Given the description of an element on the screen output the (x, y) to click on. 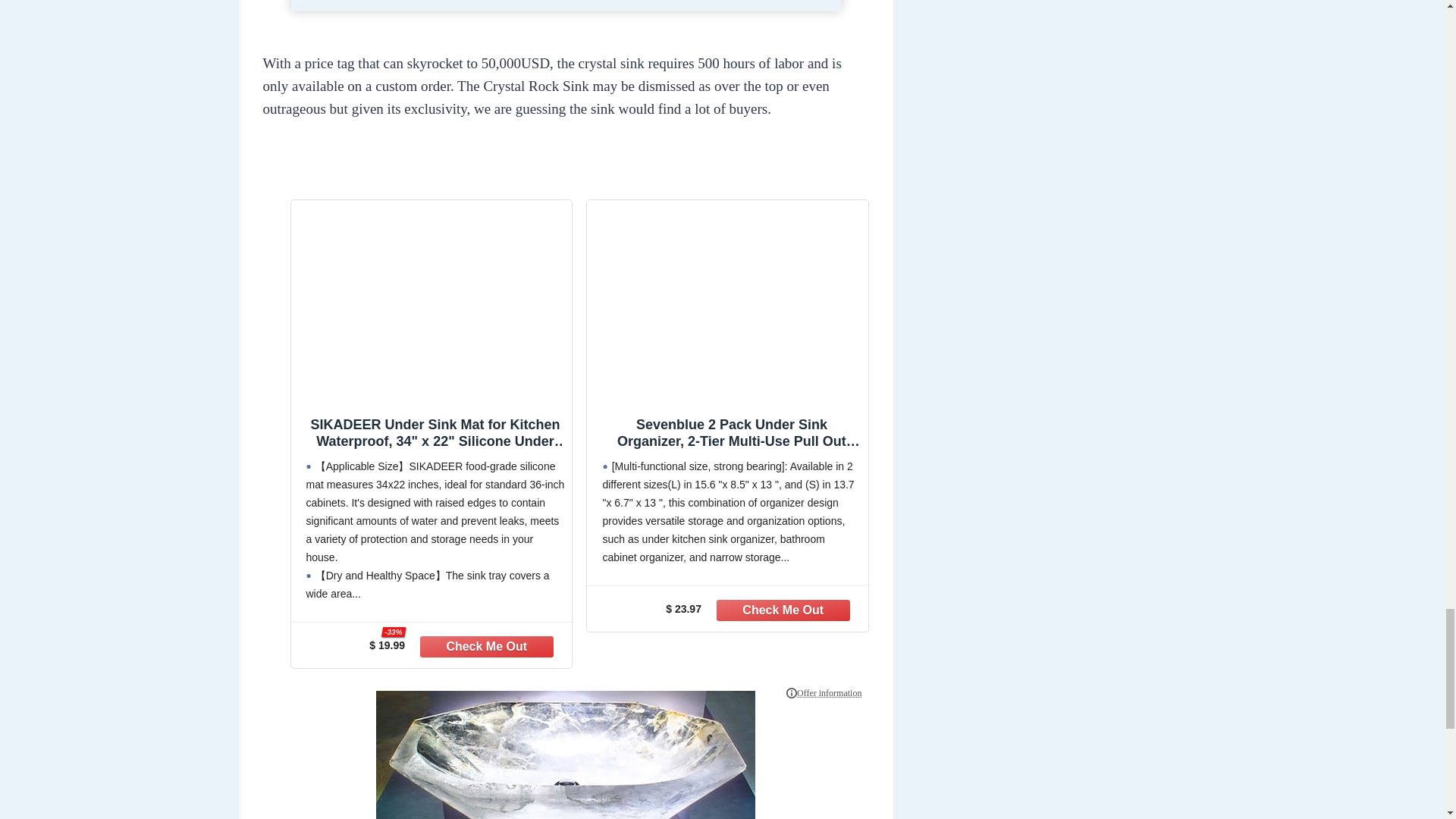
Crystal Rock Sink by High Touch (565, 755)
